Given the description of an element on the screen output the (x, y) to click on. 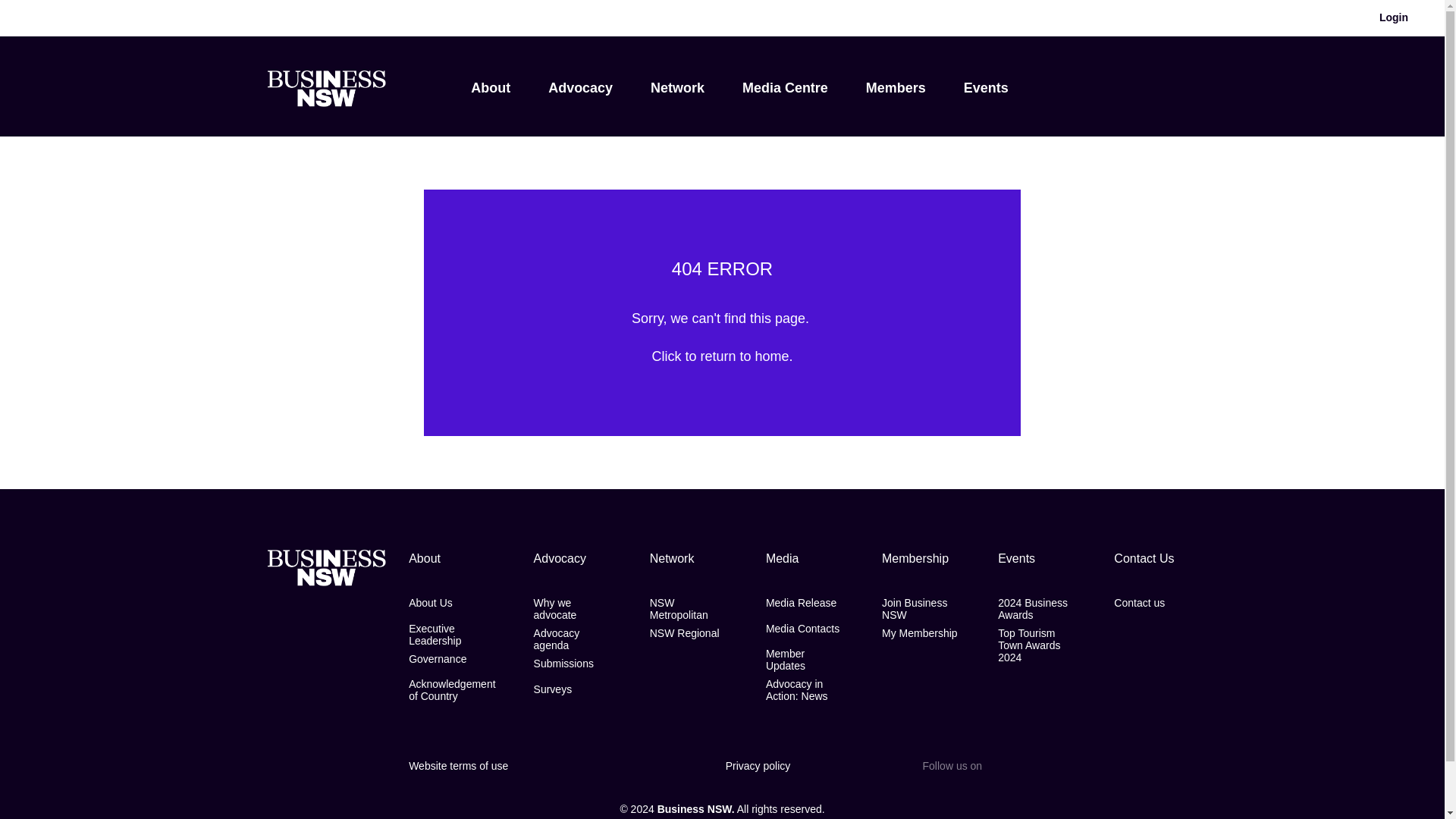
Events (986, 87)
Login (1394, 17)
Network (677, 87)
About (490, 87)
Click to return to home. (721, 355)
Media Centre (785, 87)
Members (896, 87)
About Us (430, 603)
Advocacy (580, 87)
Executive Leadership (452, 634)
